Given the description of an element on the screen output the (x, y) to click on. 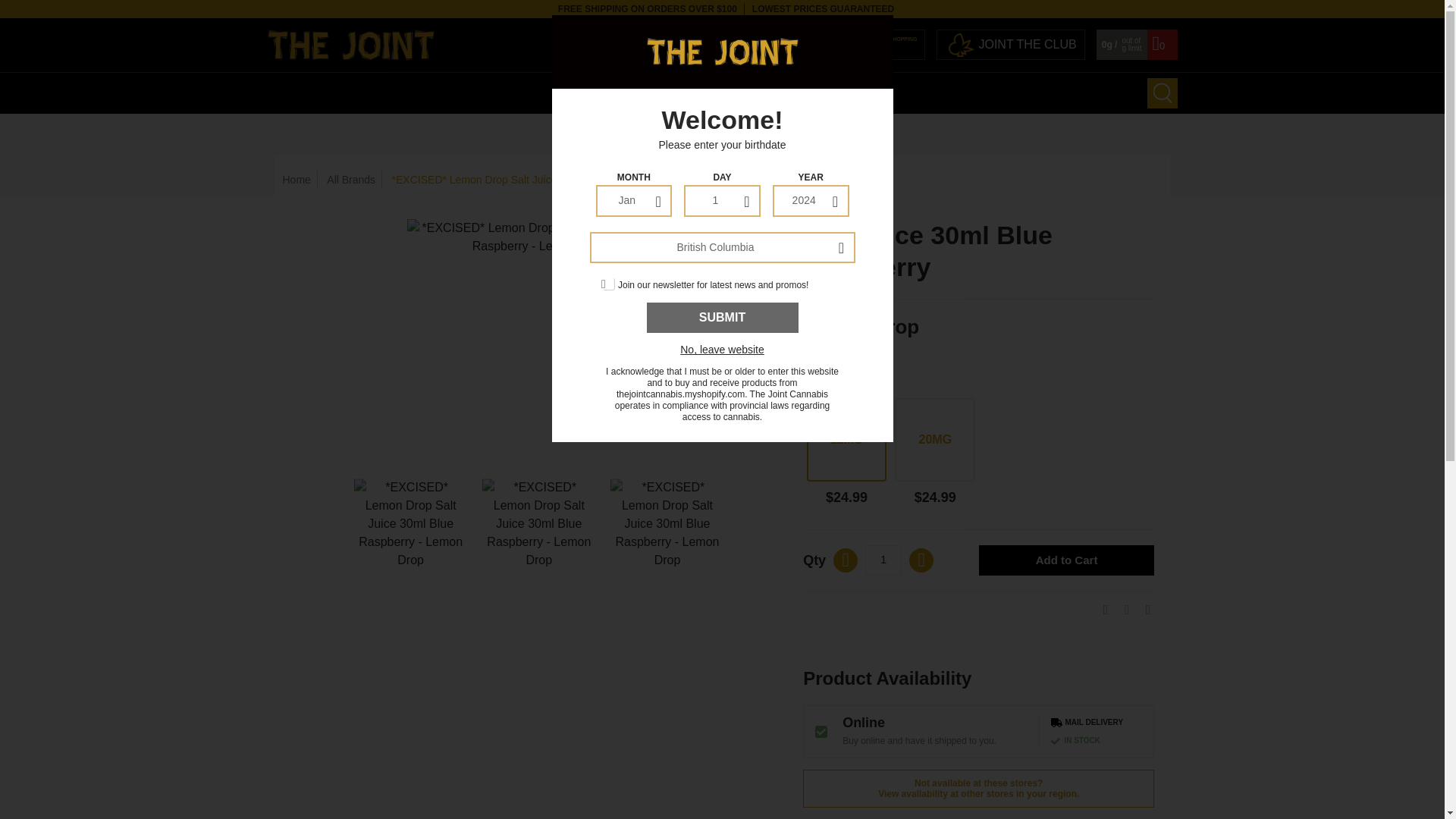
1 (882, 560)
thejointcannabis (550, 44)
true (608, 284)
0 (1161, 49)
No, leave website (722, 349)
SUBMIT (721, 317)
Cart (1161, 49)
Add to Cart (1066, 560)
